Given the description of an element on the screen output the (x, y) to click on. 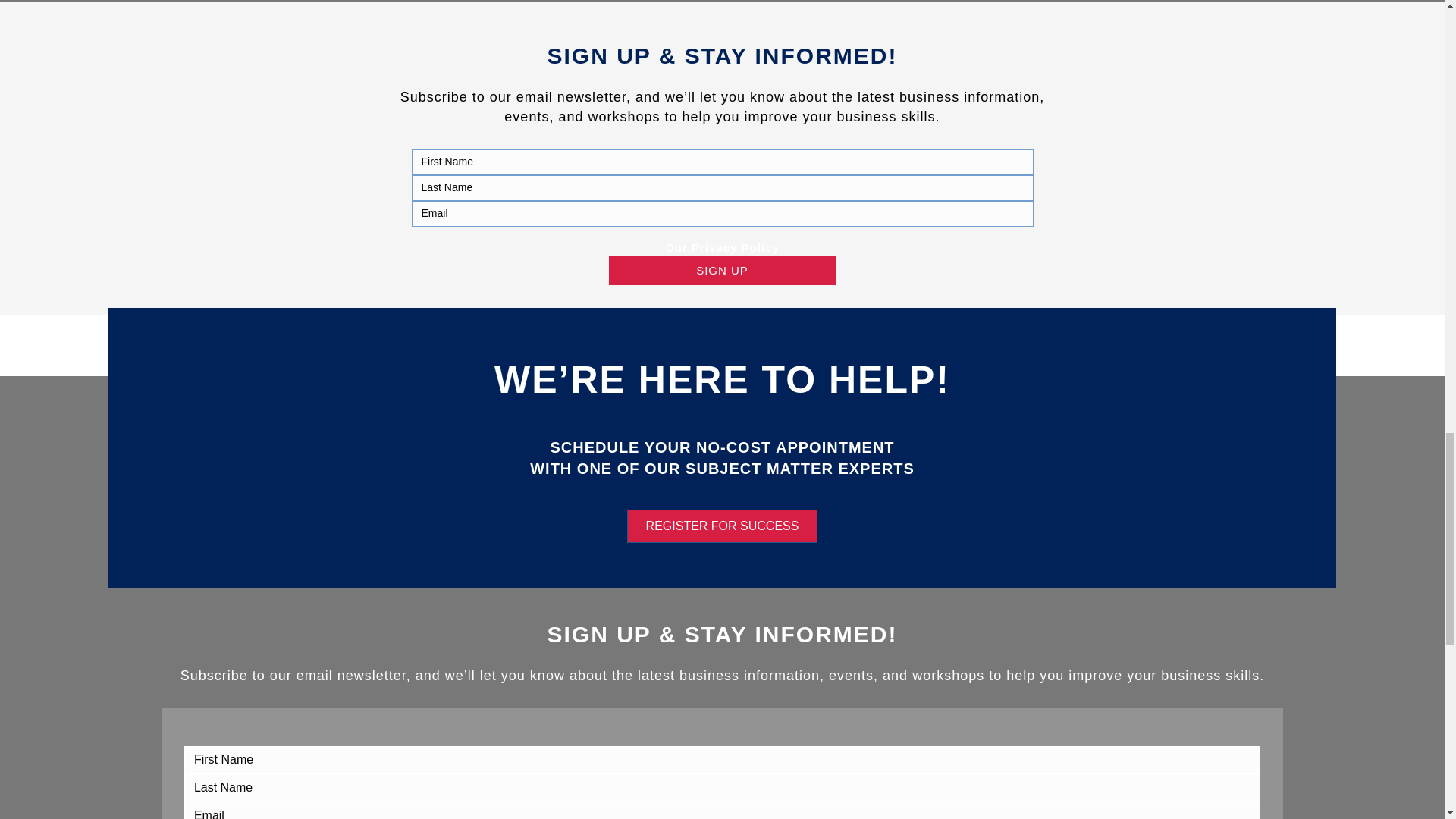
Sign Up (721, 270)
